Given the description of an element on the screen output the (x, y) to click on. 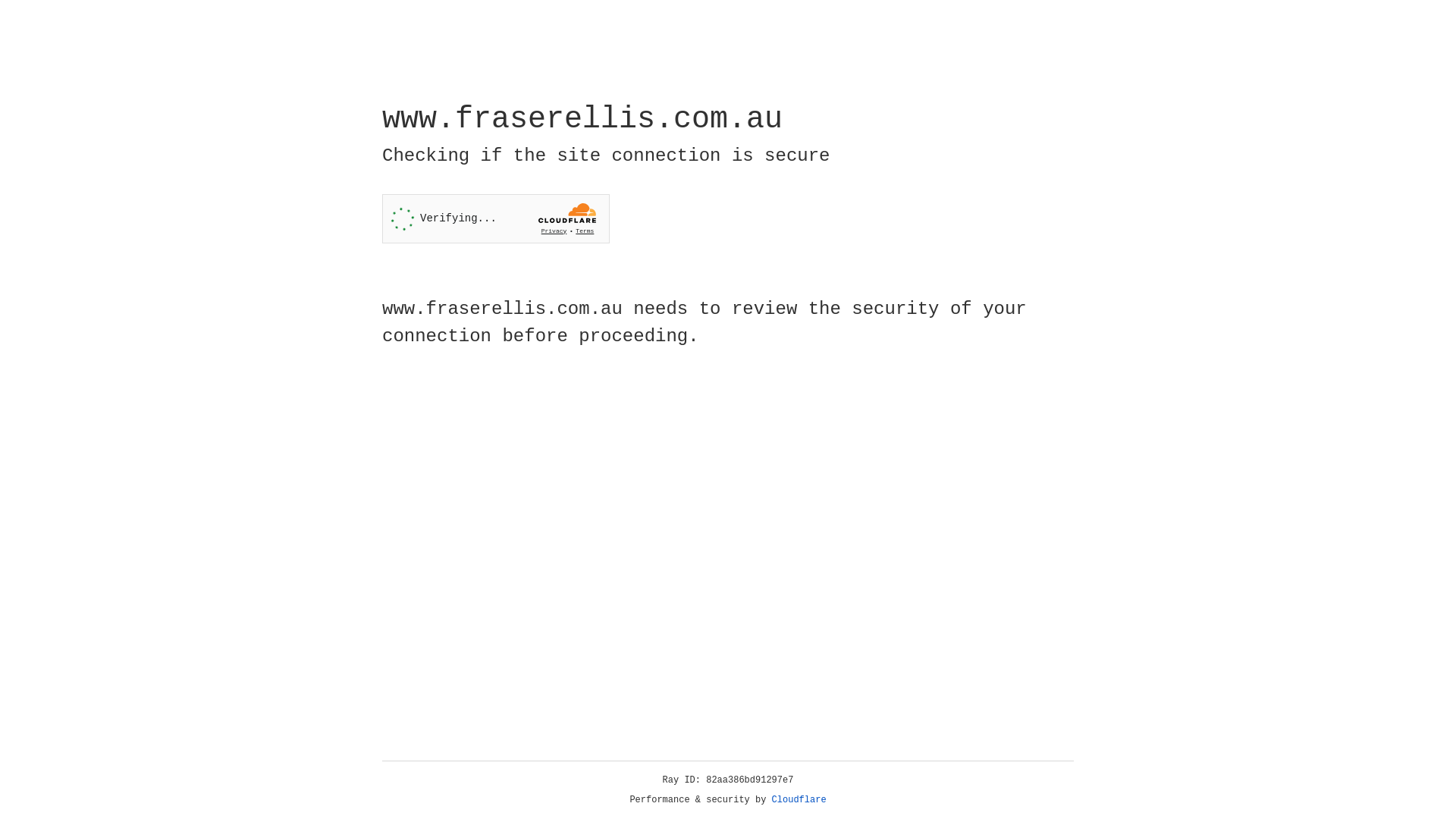
Widget containing a Cloudflare security challenge Element type: hover (495, 218)
Cloudflare Element type: text (798, 799)
